Given the description of an element on the screen output the (x, y) to click on. 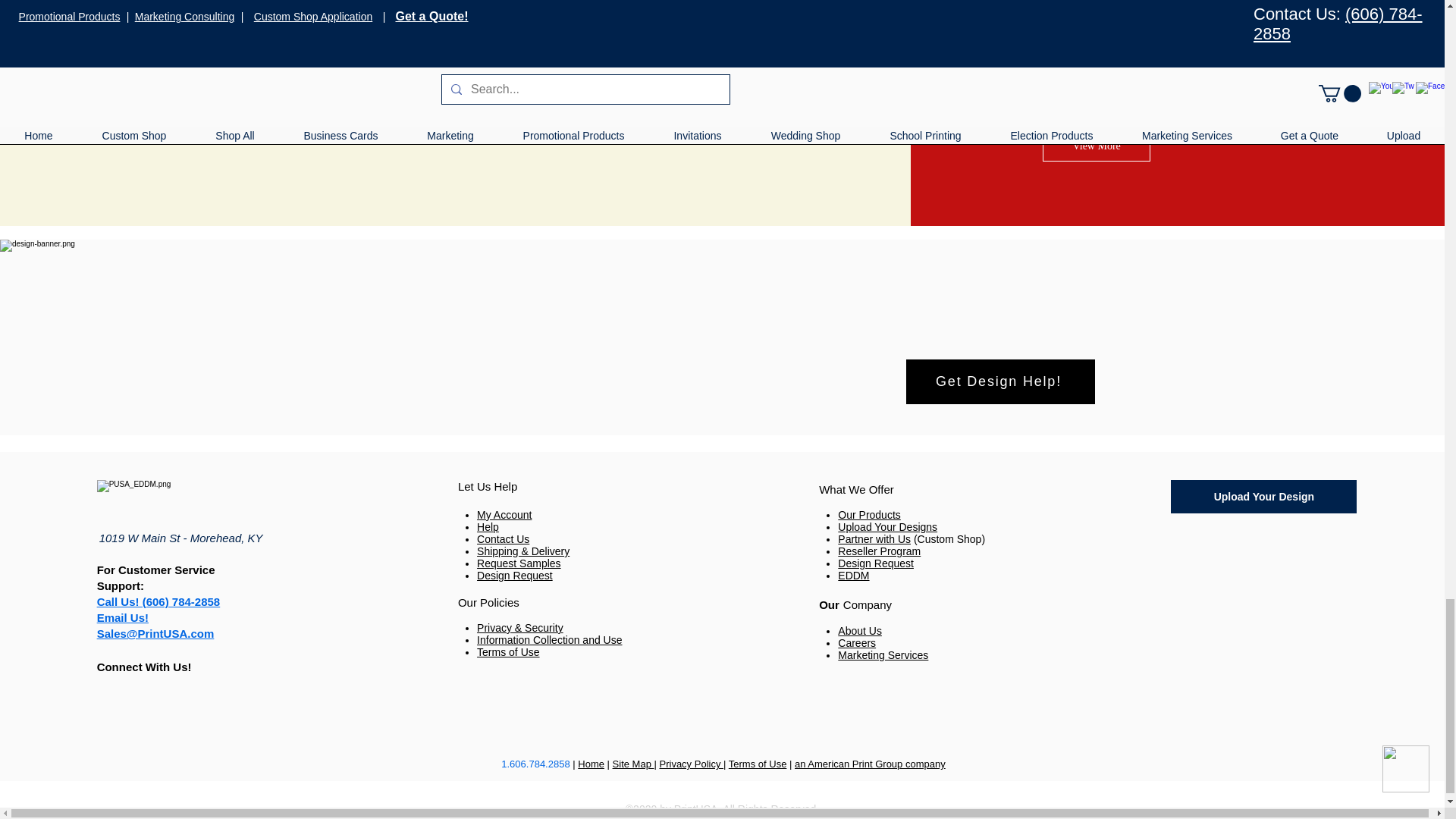
We have more. (1101, 45)
Get Design Help! (999, 381)
View More (1096, 146)
